Given the description of an element on the screen output the (x, y) to click on. 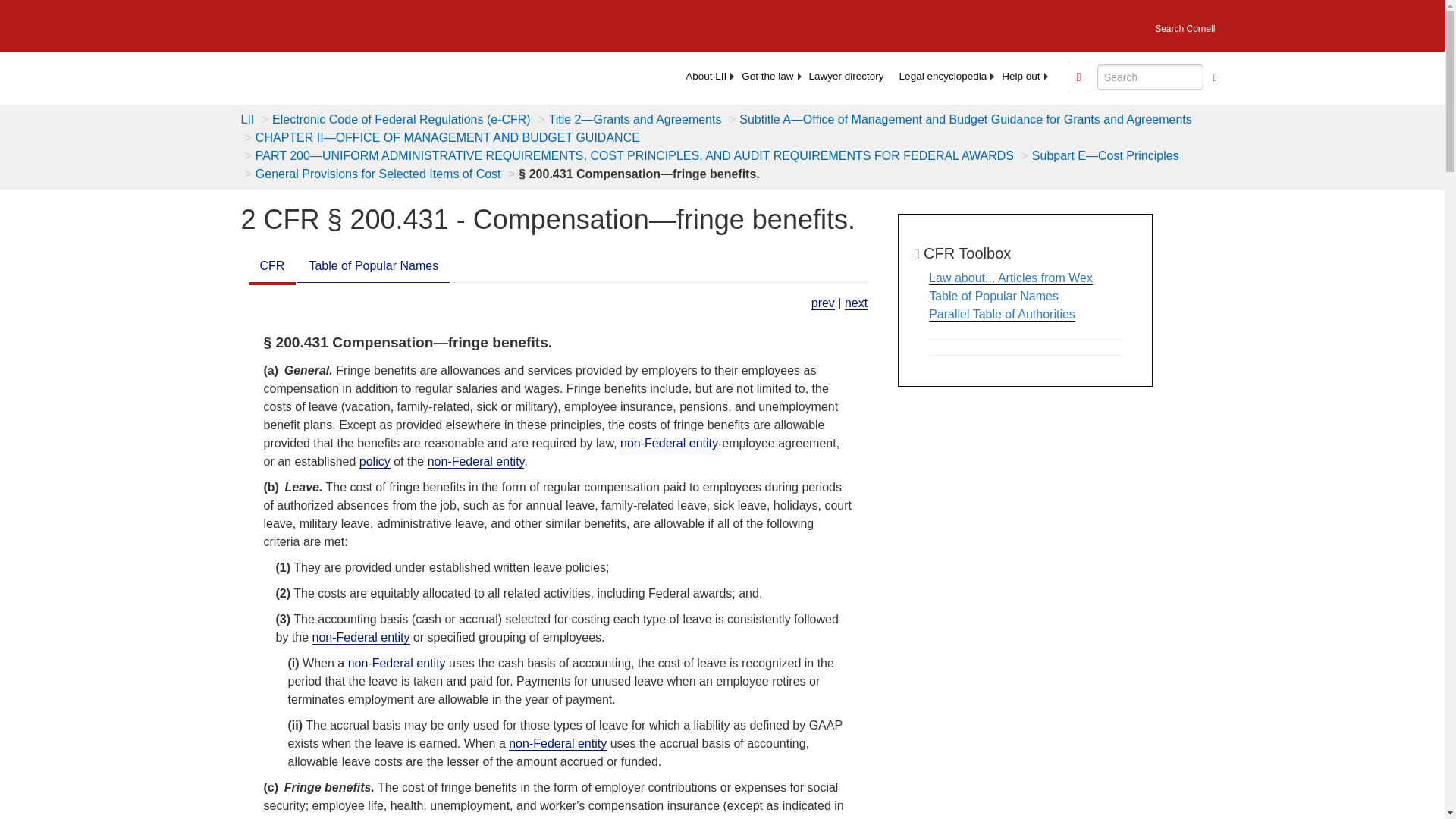
Cornell University (249, 23)
About LII (705, 76)
Legal encyclopedia (942, 76)
Get the law (766, 76)
Lawyer directory (846, 76)
Search Cornell (1184, 24)
Cornell Law School (348, 23)
Cornell Law School (348, 23)
Search Cornell University (1184, 24)
Conferences. (855, 303)
